Given the description of an element on the screen output the (x, y) to click on. 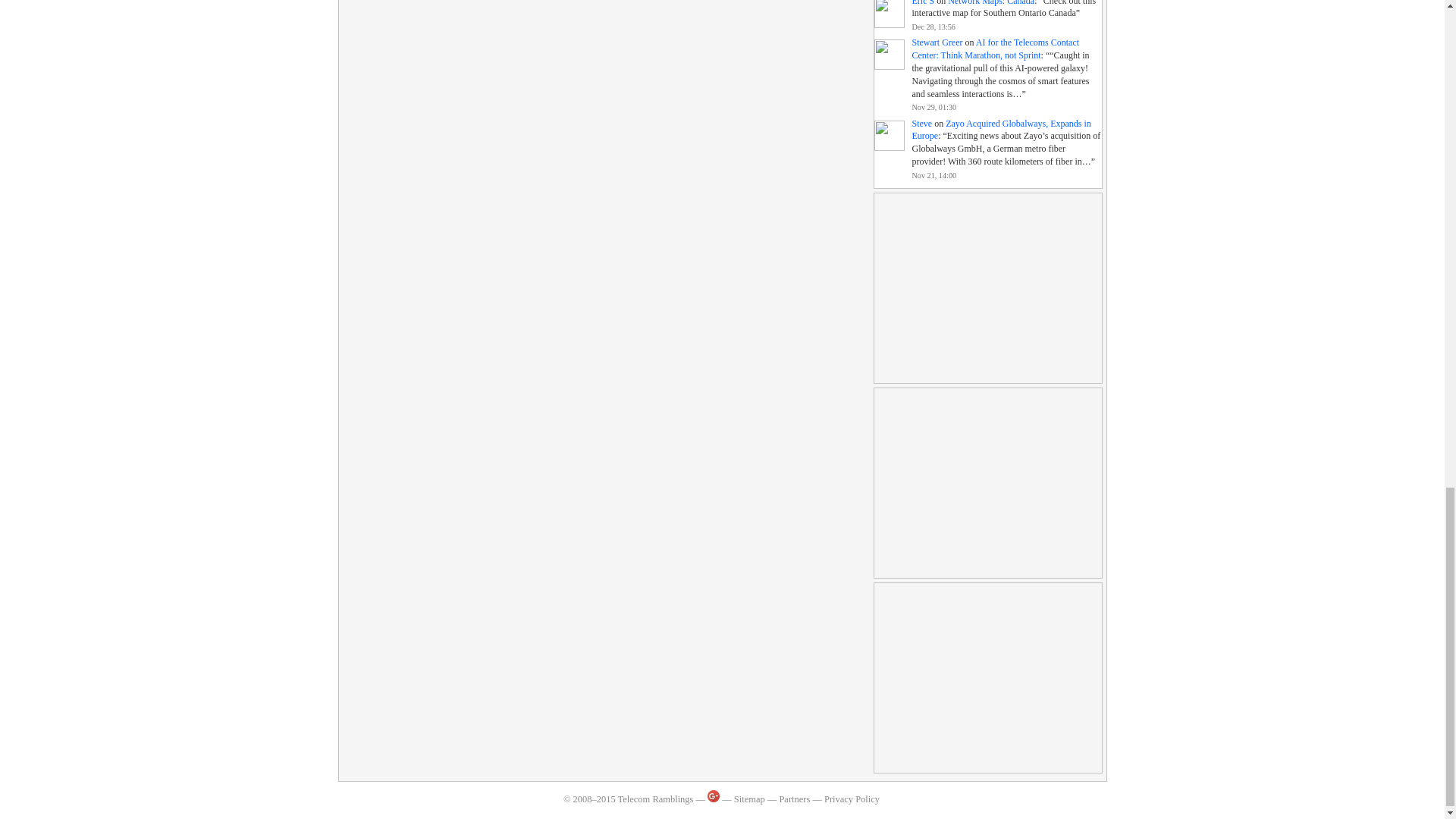
3rd party ad content (986, 678)
3rd party ad content (986, 483)
3rd party ad content (986, 288)
